Given the description of an element on the screen output the (x, y) to click on. 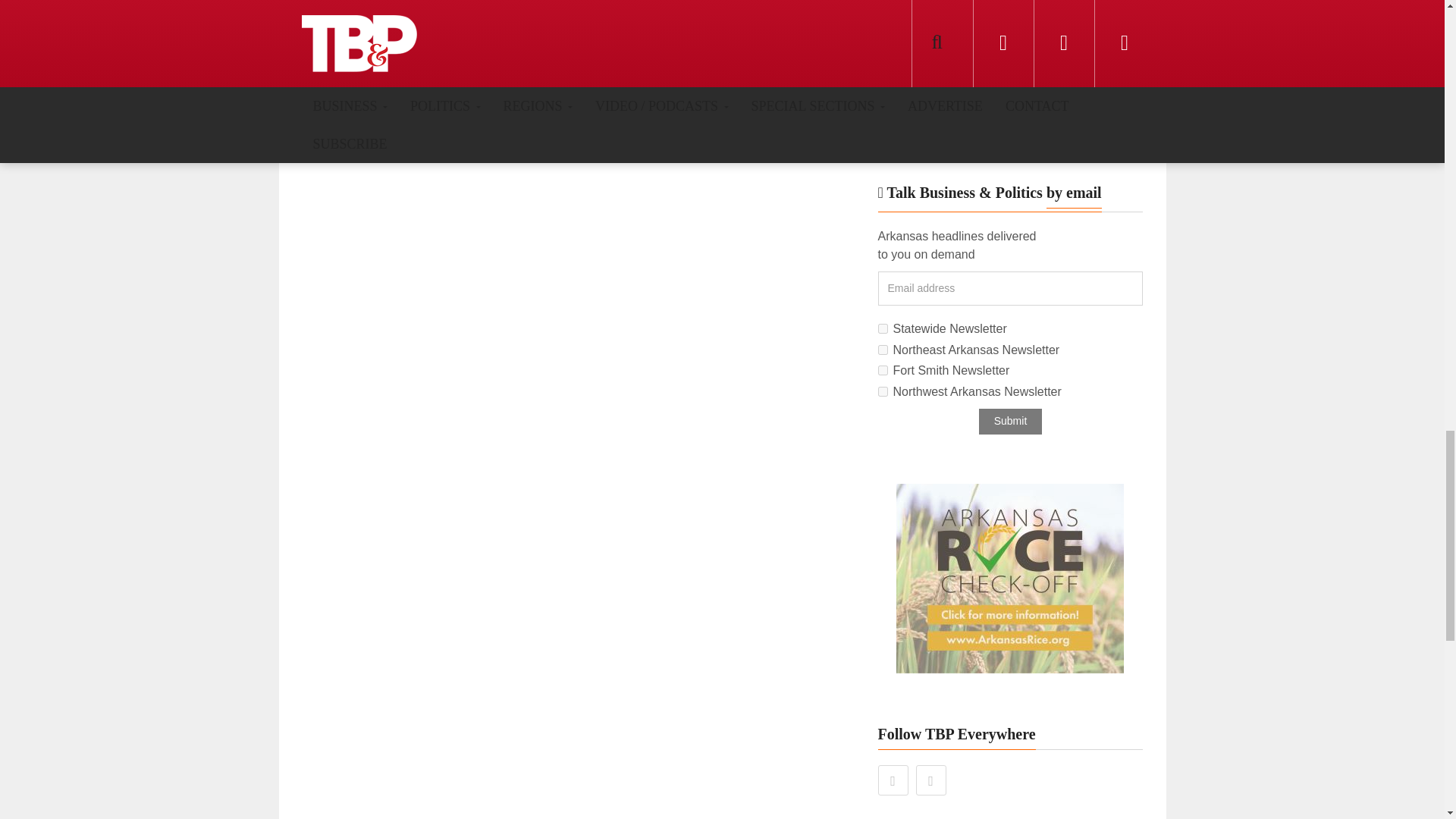
0dbc242577 (882, 349)
bfd07a2f6a (882, 370)
536baa6e11 (882, 391)
a8cb0d3206 (882, 328)
